Given the description of an element on the screen output the (x, y) to click on. 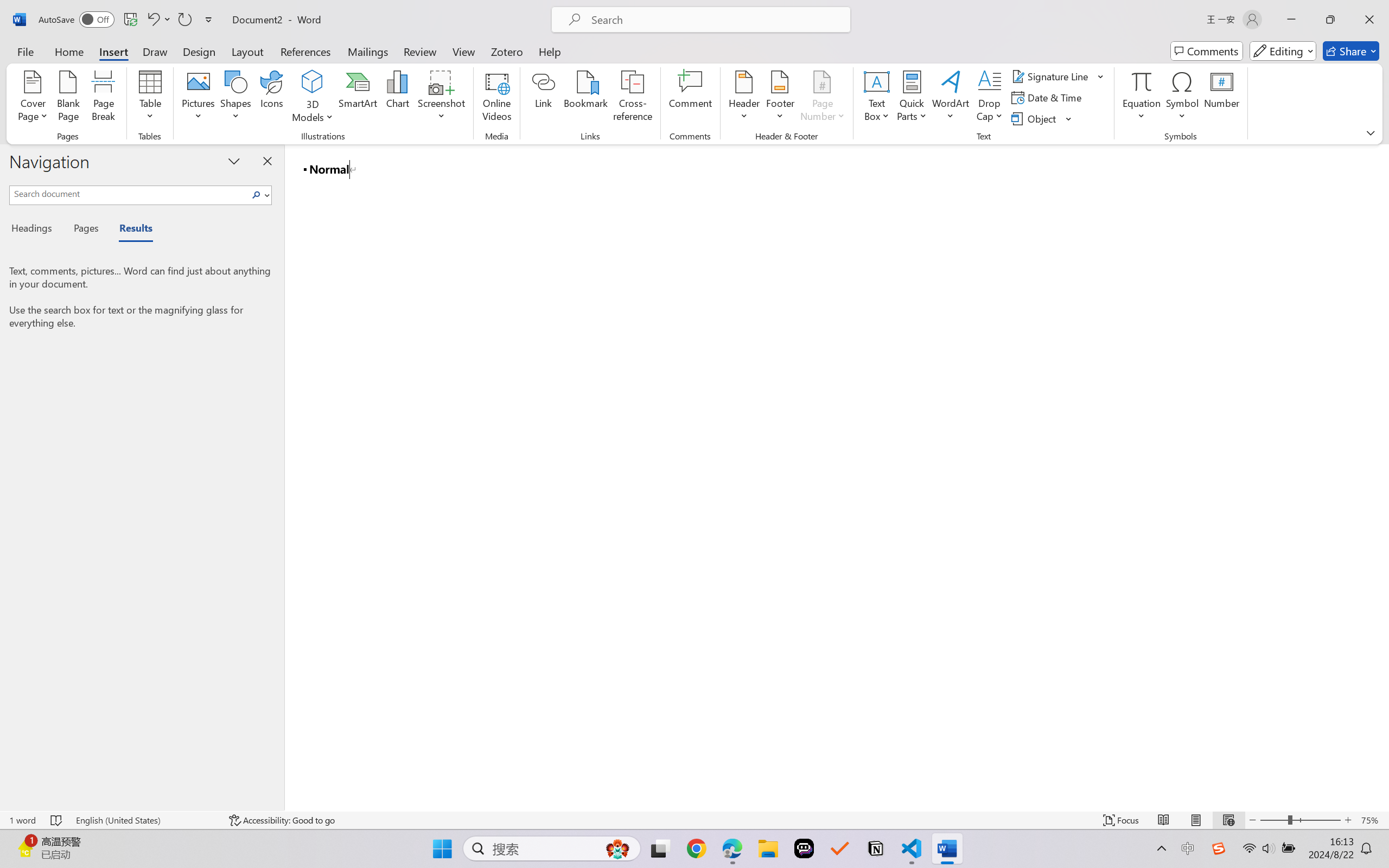
Screenshot (441, 97)
Spelling and Grammar Check No Errors (56, 819)
AutomationID: BadgeAnchorLargeTicker (24, 847)
Search (259, 194)
Drop Cap (989, 97)
Quick Access Toolbar (127, 19)
Shapes (235, 97)
Help (549, 51)
Insert (112, 51)
Chart... (396, 97)
Zotero (506, 51)
Task Pane Options (233, 161)
Number... (1221, 97)
Icons (271, 97)
